Given the description of an element on the screen output the (x, y) to click on. 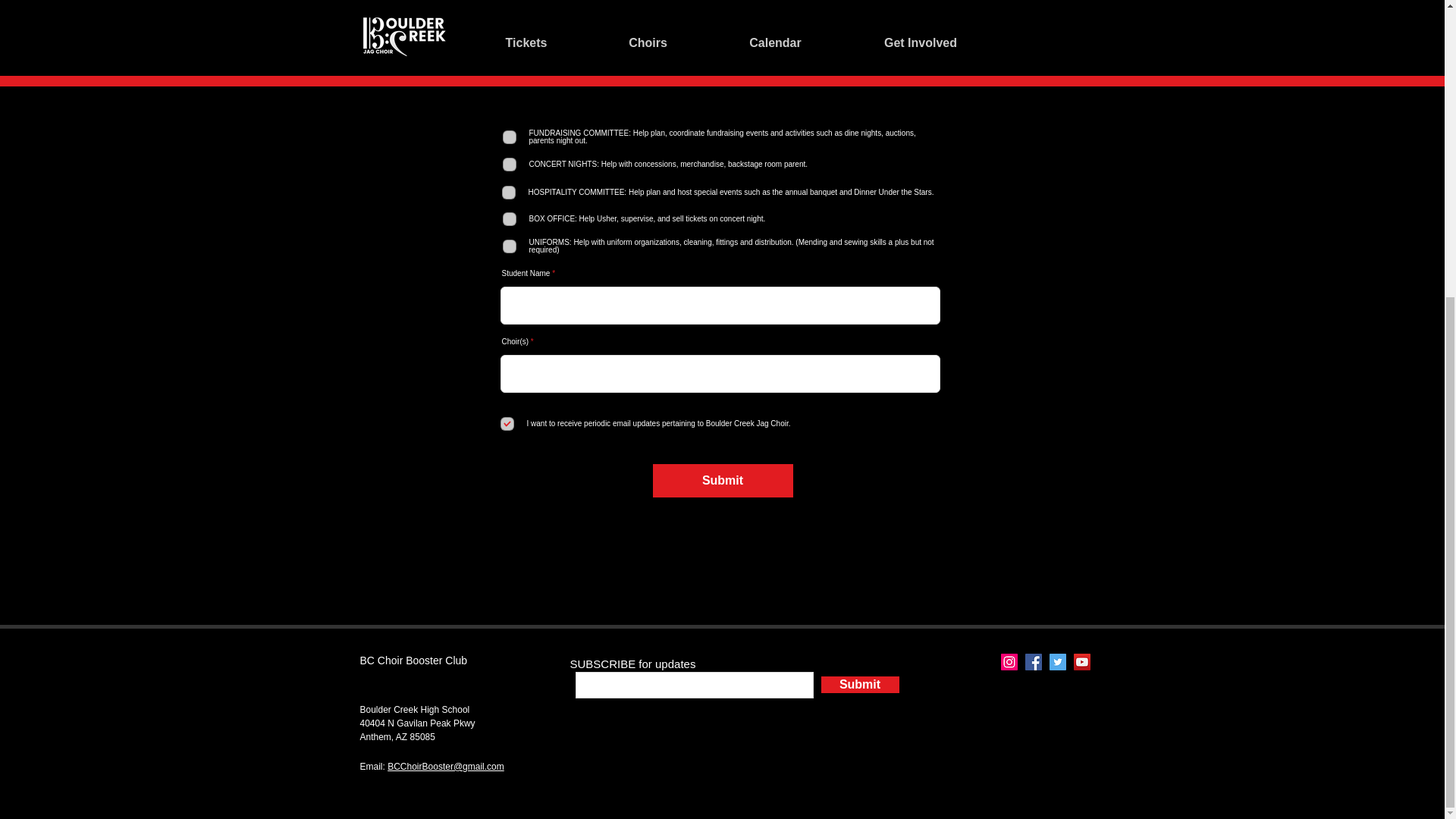
Submit (859, 684)
Submit (722, 480)
